Given the description of an element on the screen output the (x, y) to click on. 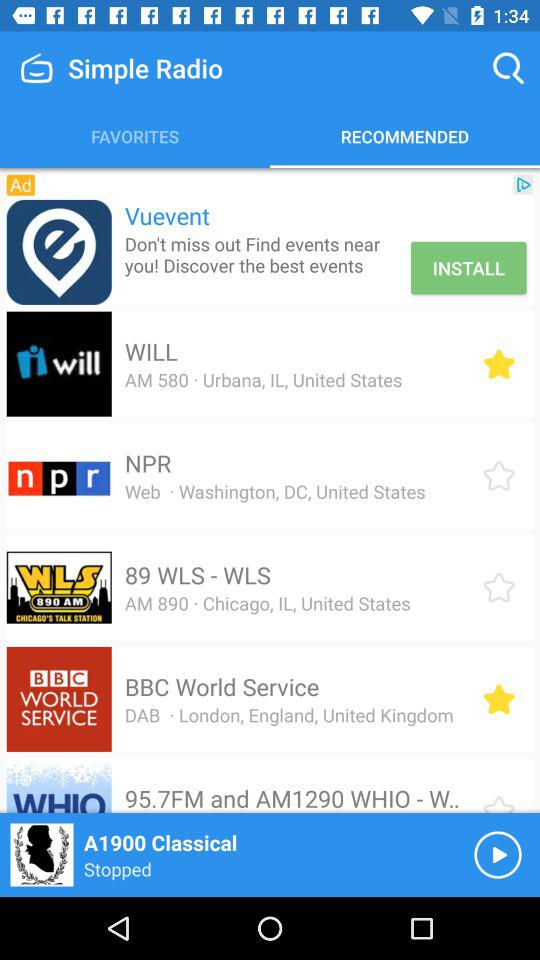
choose item next to simple radio icon (508, 67)
